Given the description of an element on the screen output the (x, y) to click on. 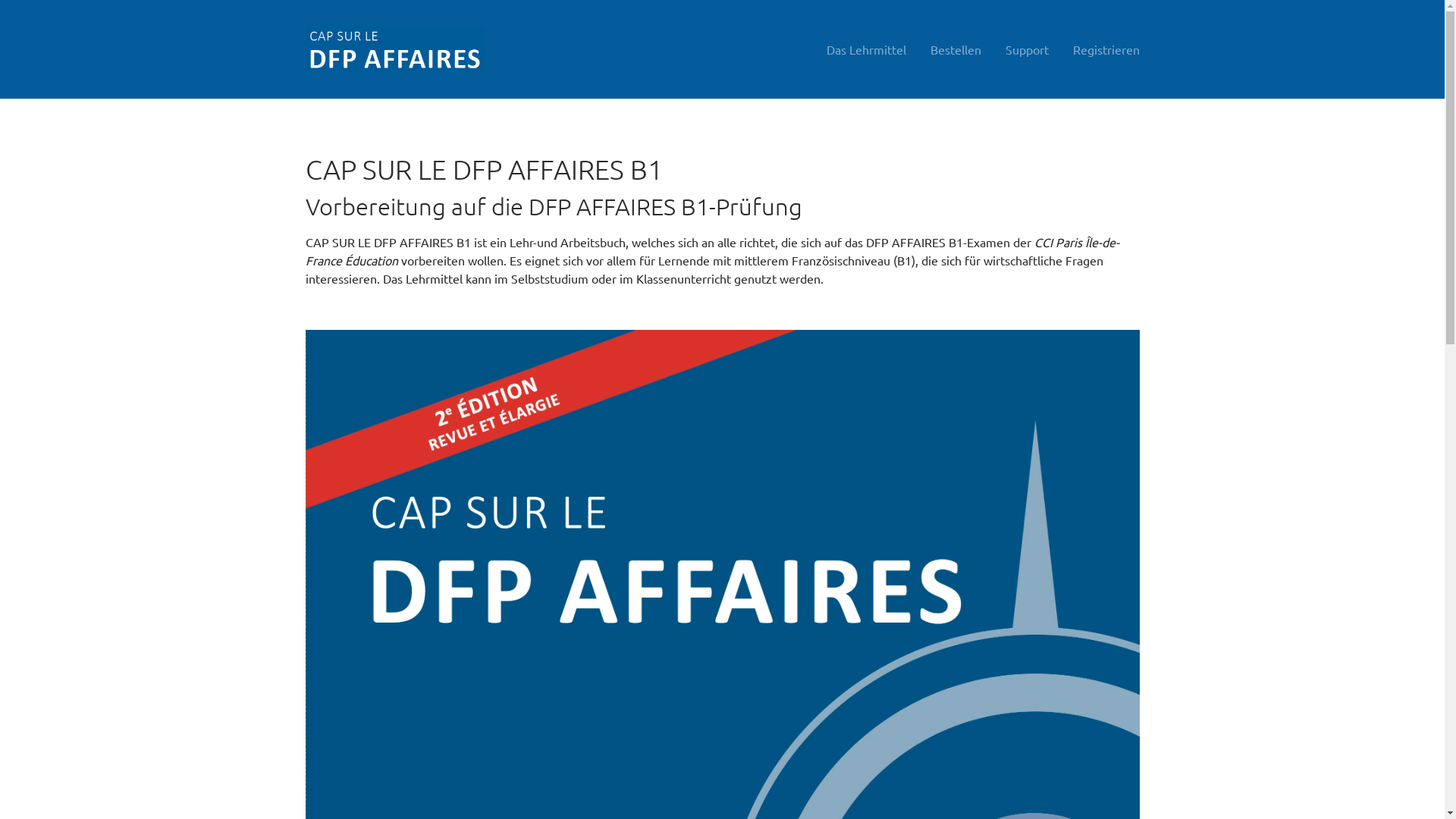
Support Element type: text (1026, 49)
Registrieren Element type: text (1105, 49)
Bestellen Element type: text (954, 49)
Das Lehrmittel Element type: text (866, 49)
